Given the description of an element on the screen output the (x, y) to click on. 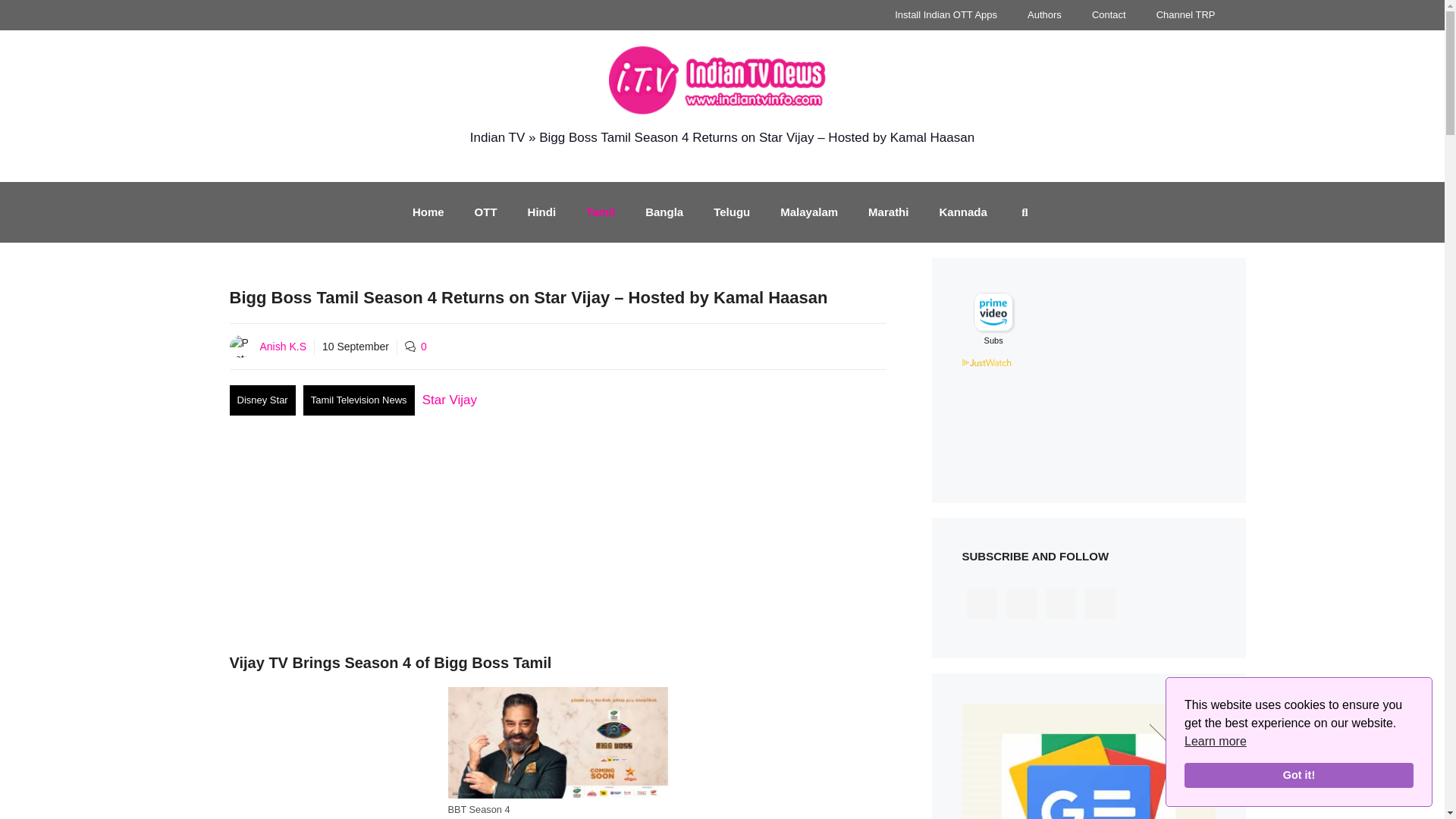
Install Indian OTT Apps (945, 15)
Disney Star (261, 399)
Got it! (1299, 774)
Indian Television News Authors (1044, 15)
Channel TRP (1185, 15)
Telugu (731, 211)
Star Vijay (449, 400)
Home (428, 211)
Bangla (664, 211)
Tamil (600, 211)
Authors (1044, 15)
Indian TV (497, 137)
Contact Us (1109, 15)
Contact (1109, 15)
Learn more (1215, 741)
